Given the description of an element on the screen output the (x, y) to click on. 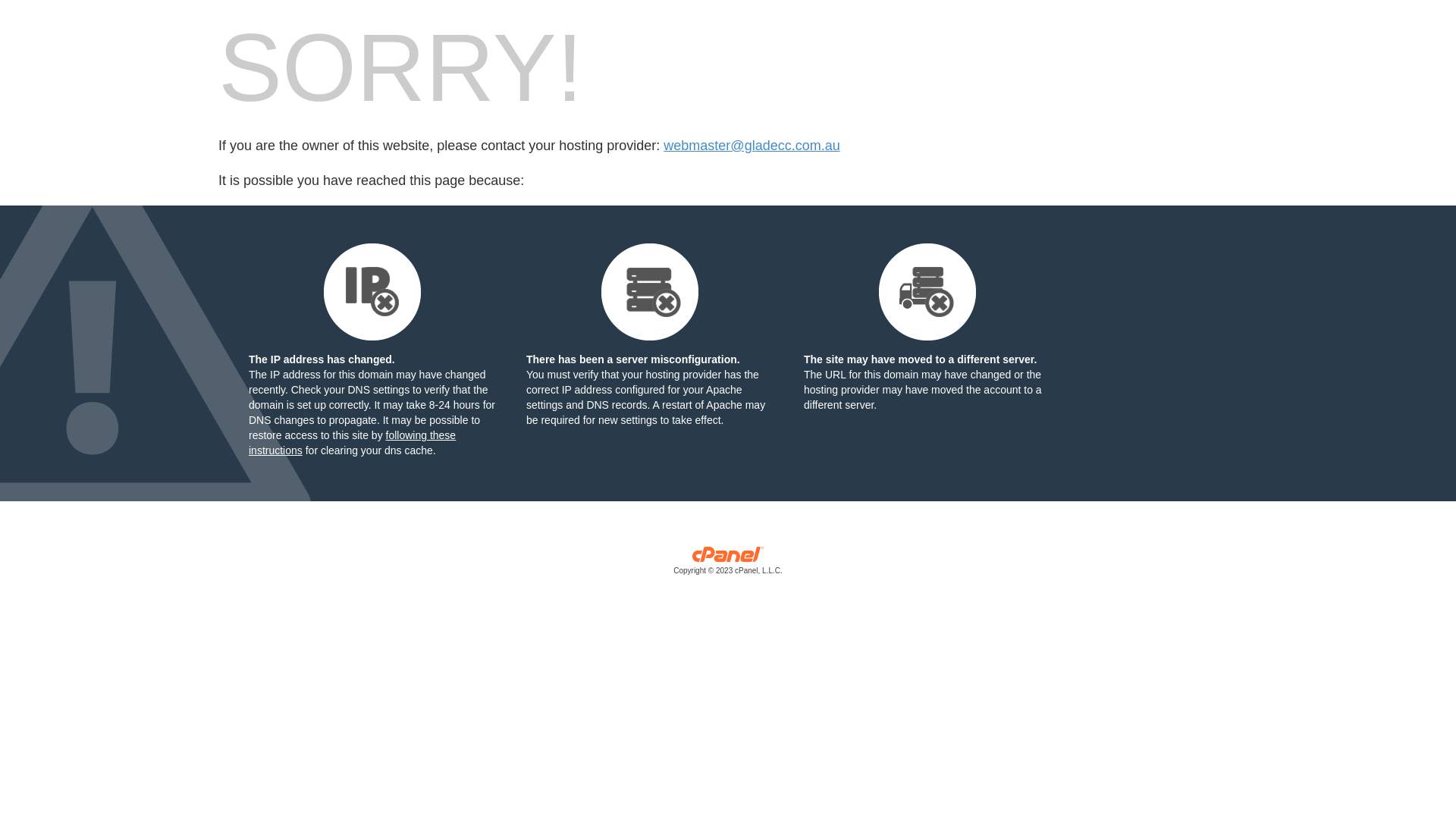
following these instructions Element type: text (351, 442)
webmaster@gladecc.com.au Element type: text (751, 145)
